Given the description of an element on the screen output the (x, y) to click on. 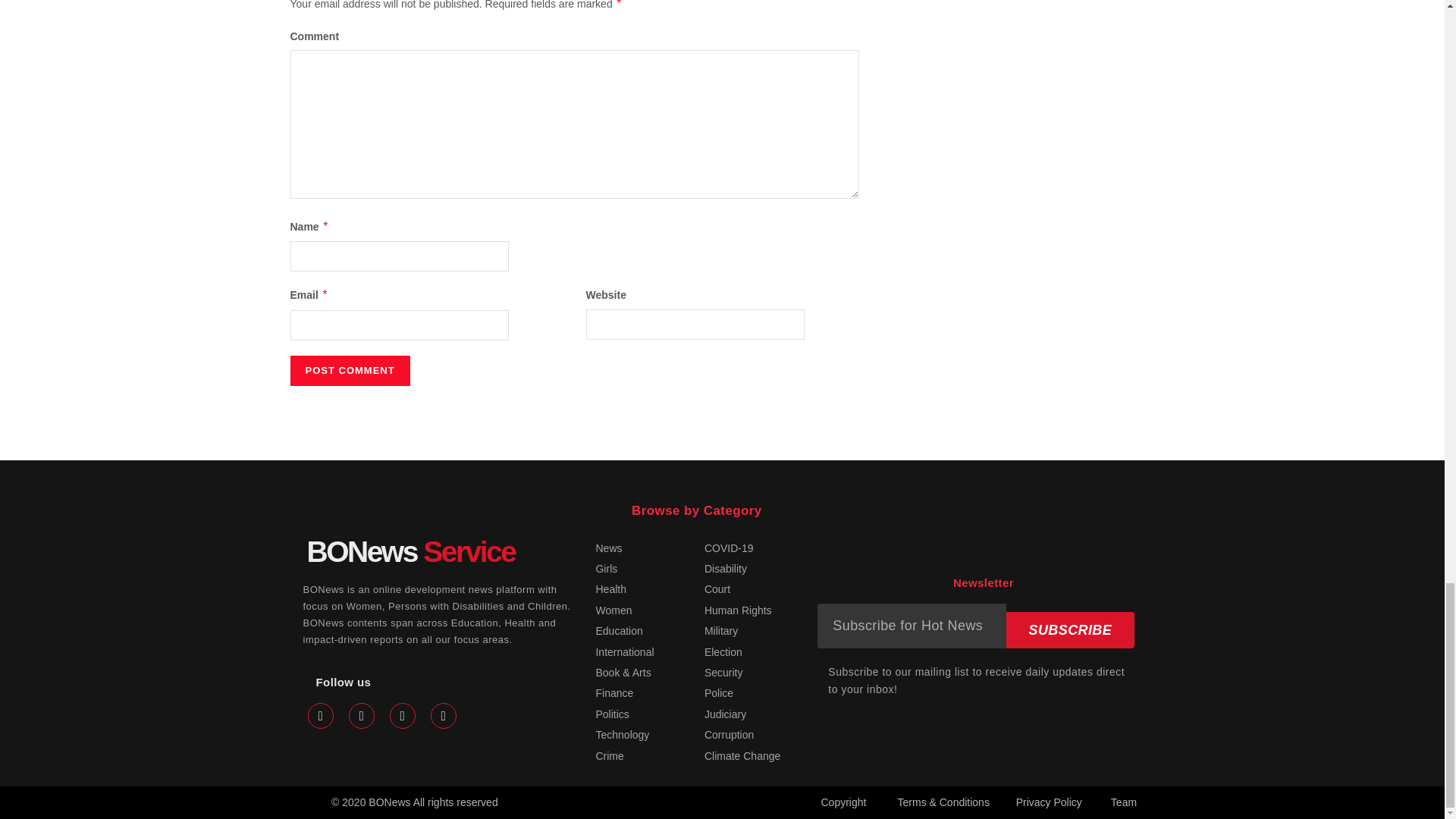
Post Comment (349, 370)
